Given the description of an element on the screen output the (x, y) to click on. 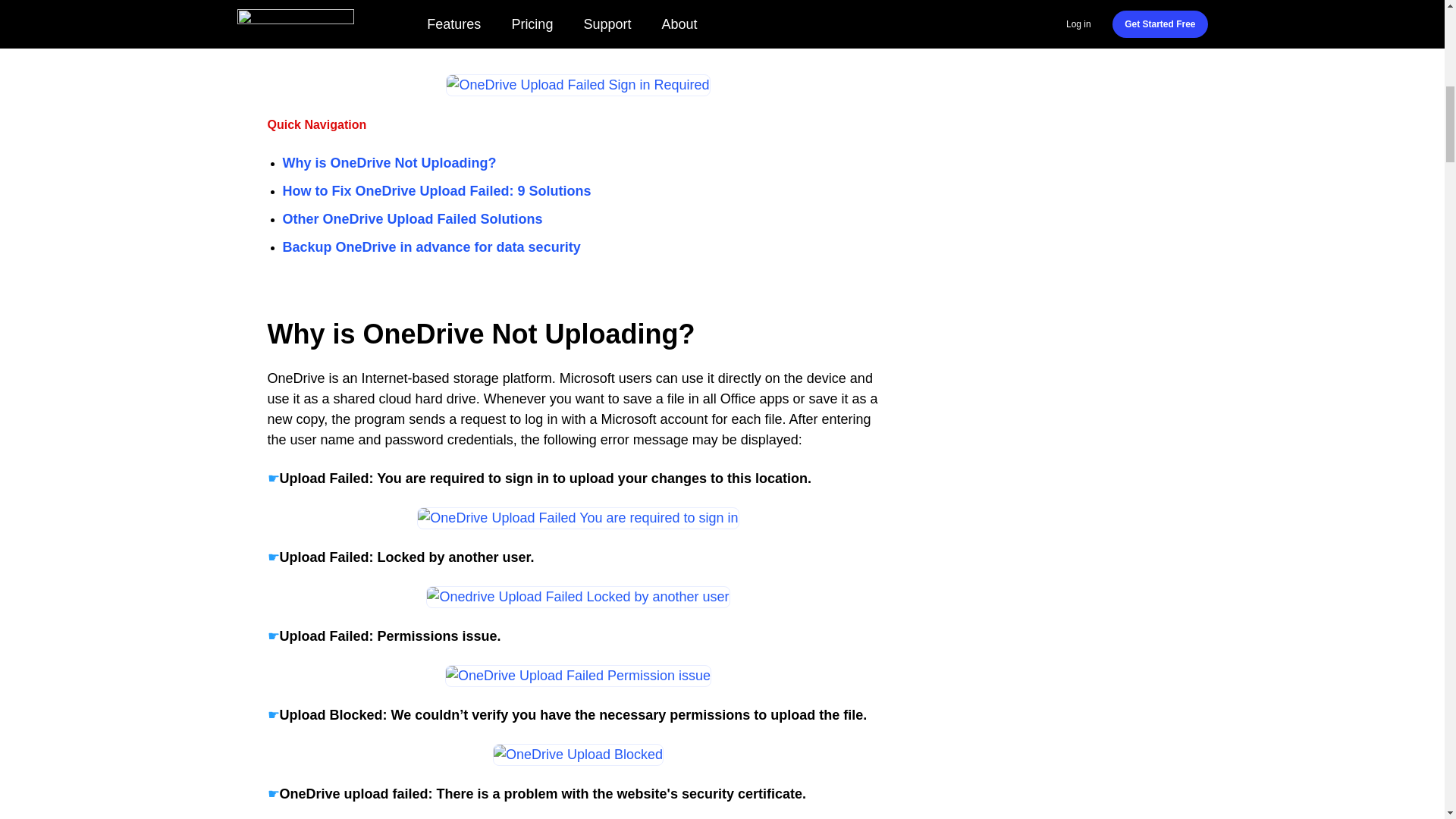
Backup OneDrive in advance for data security (430, 247)
Why is OneDrive Not Uploading? (389, 163)
How to Fix OneDrive Upload Failed: 9 Solutions (436, 190)
Other OneDrive Upload Failed Solutions (411, 219)
